Given the description of an element on the screen output the (x, y) to click on. 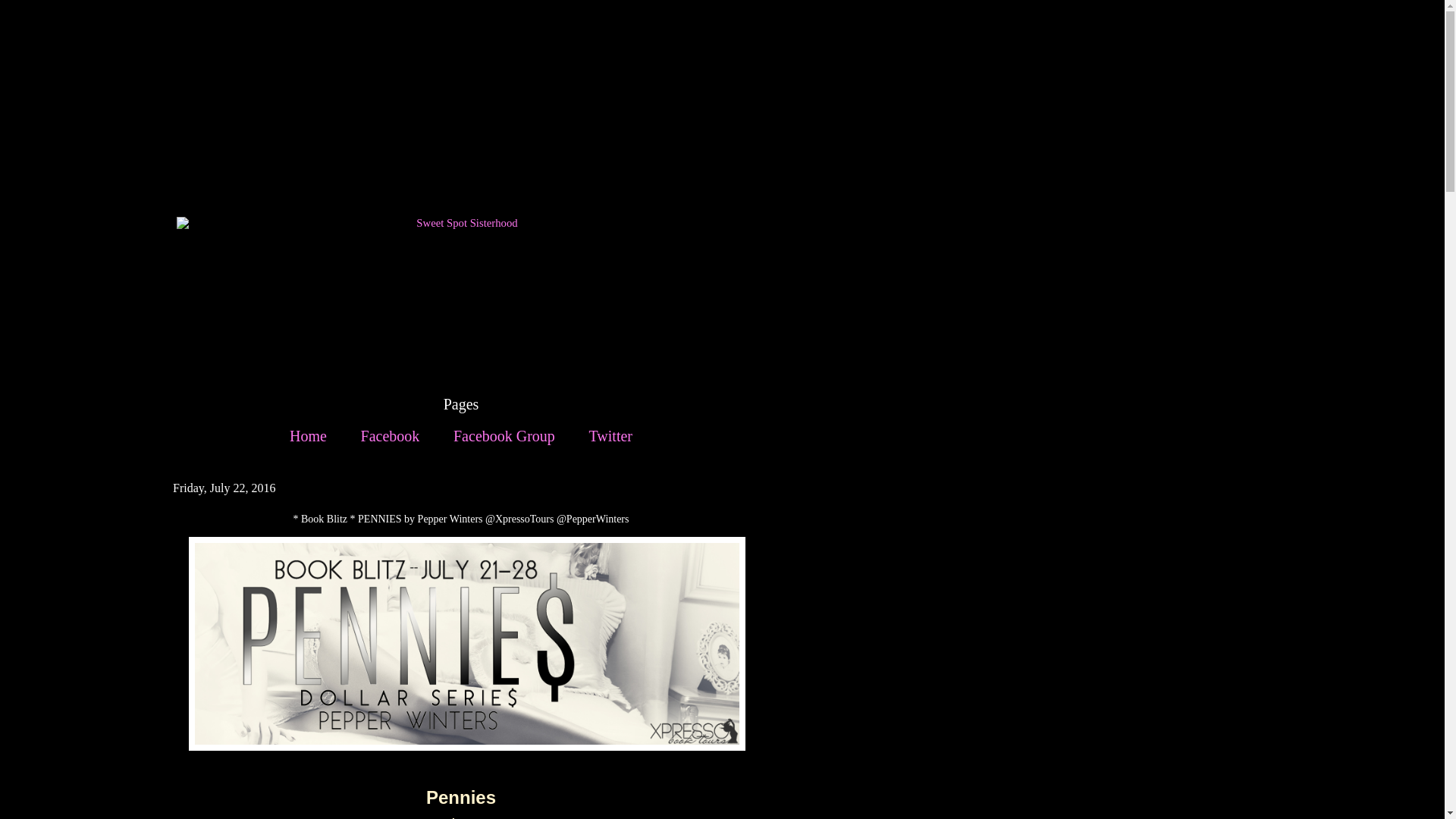
Home (307, 436)
Facebook (390, 436)
Facebook Group (504, 436)
Twitter (610, 436)
